Given the description of an element on the screen output the (x, y) to click on. 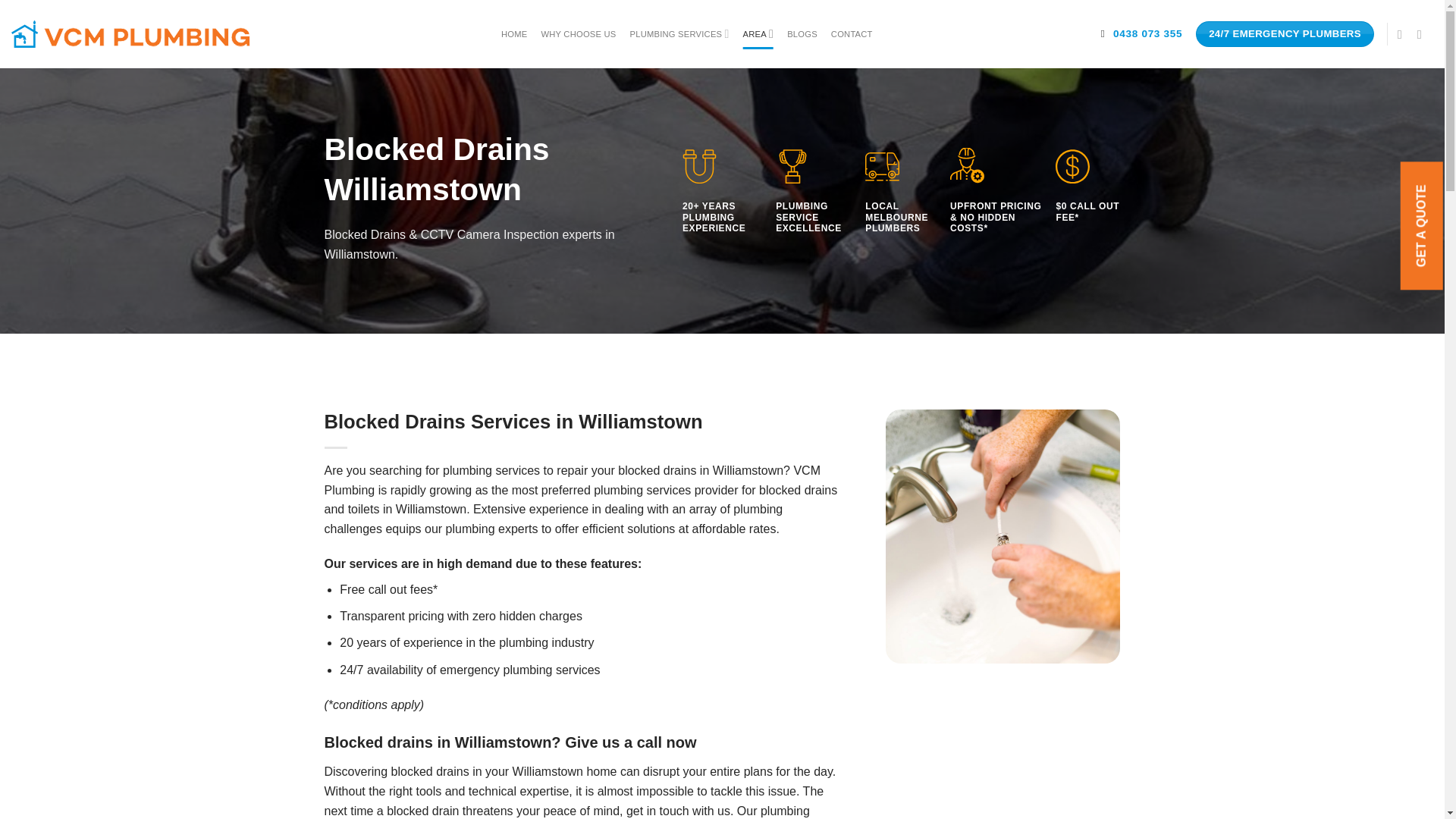
AREA (758, 33)
mechanical-engineering (967, 163)
HOME (513, 33)
WHY CHOOSE US (577, 33)
PLUMBING SERVICES (679, 33)
